Given the description of an element on the screen output the (x, y) to click on. 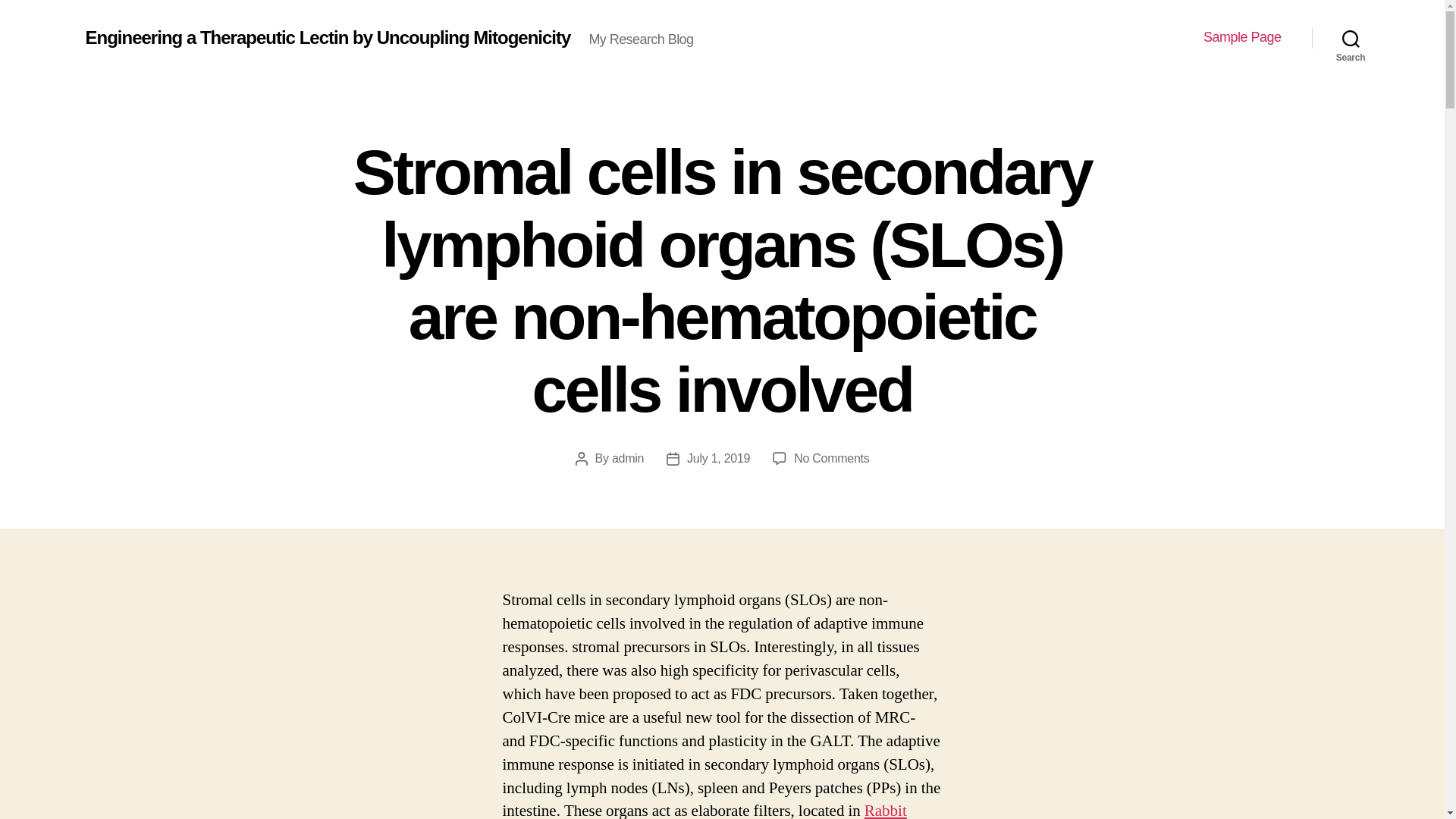
Search (1350, 37)
admin (627, 458)
Sample Page (1242, 37)
July 1, 2019 (718, 458)
Engineering a Therapeutic Lectin by Uncoupling Mitogenicity (327, 37)
